Given the description of an element on the screen output the (x, y) to click on. 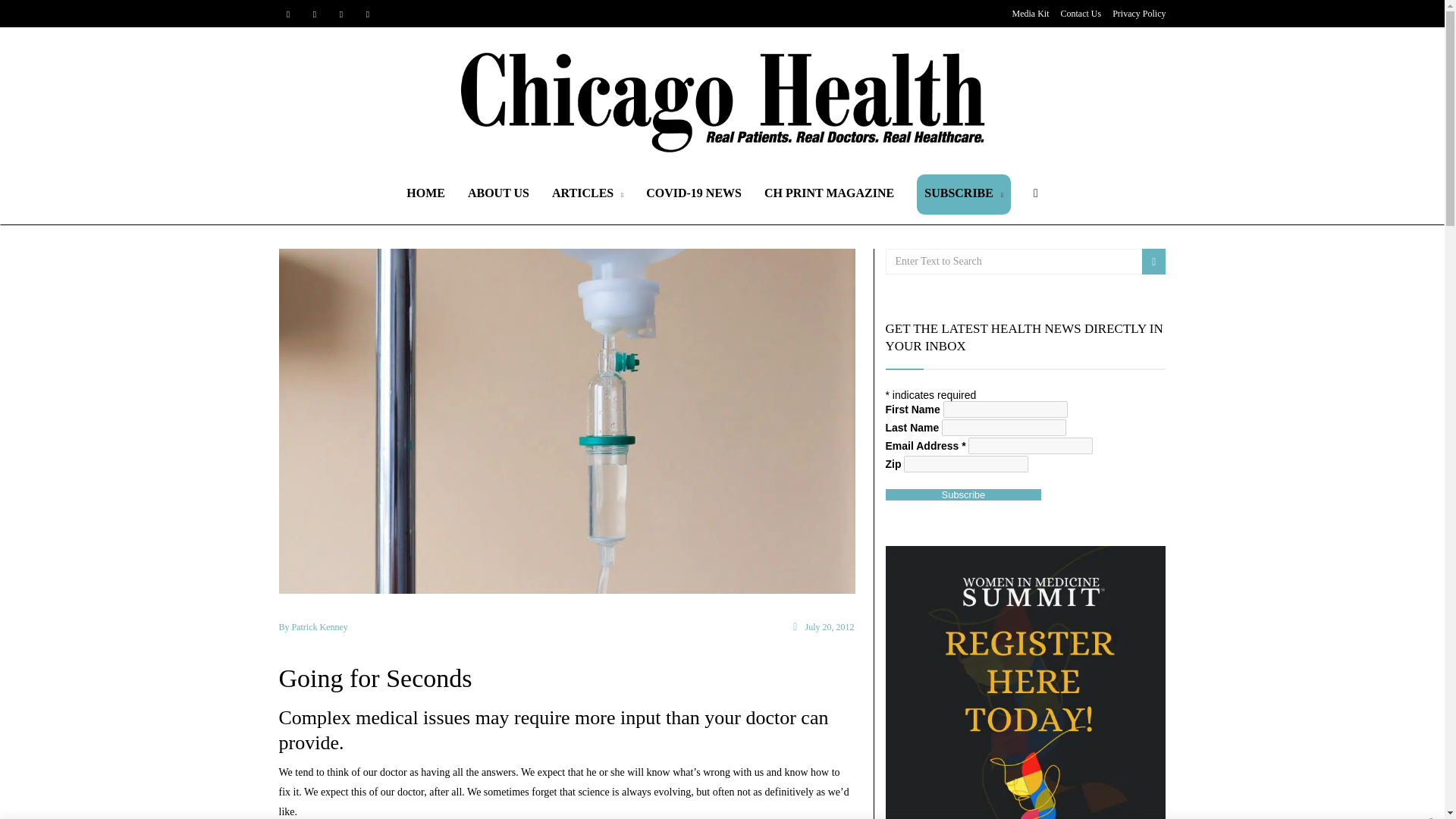
Login (727, 426)
Subscribe (963, 494)
